Given the description of an element on the screen output the (x, y) to click on. 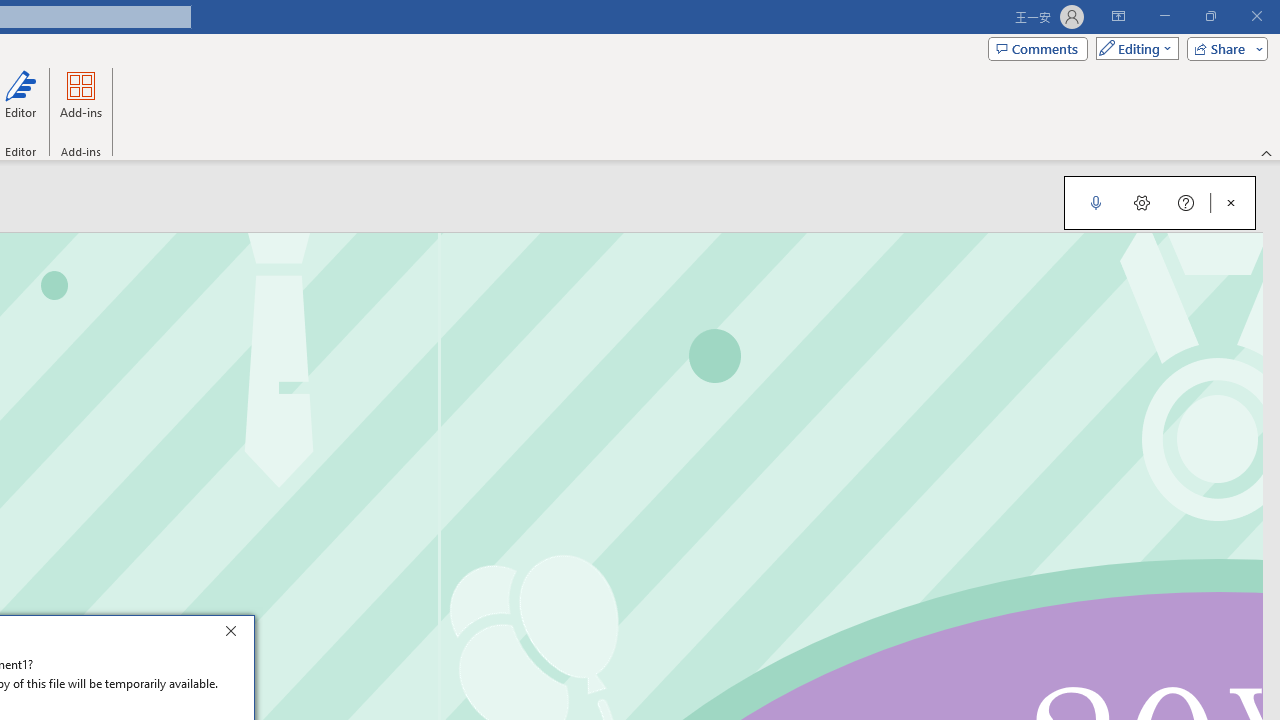
Start Dictation (1096, 202)
Close Dictation (1231, 202)
